Given the description of an element on the screen output the (x, y) to click on. 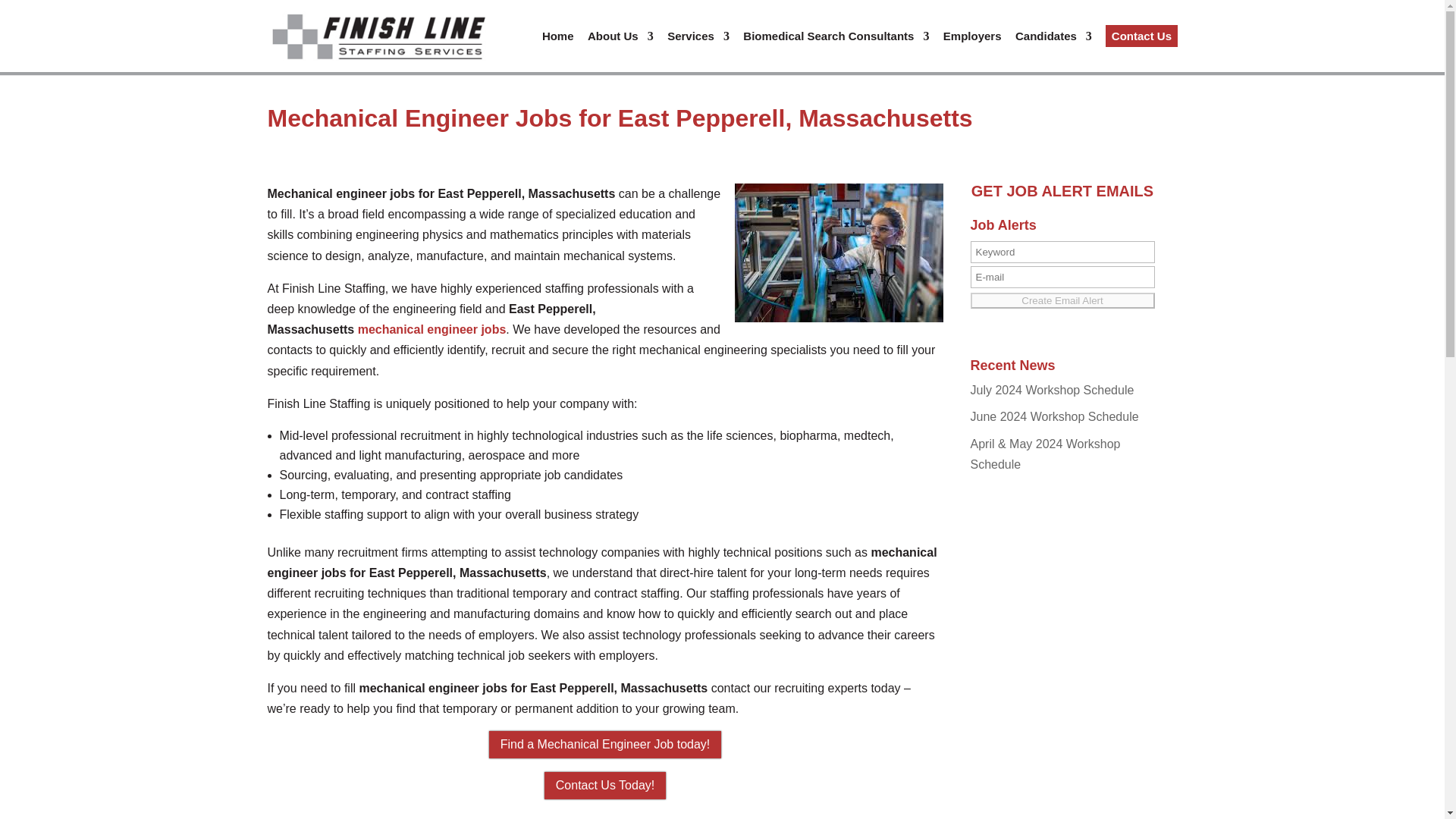
Create Email Alert (1062, 300)
Candidates (1053, 48)
Contact Us (1140, 35)
Biomedical Search Consultants (835, 48)
Create Email Alert (1062, 300)
Services (697, 48)
July 2024 Workshop Schedule (1052, 390)
Find a Mechanical Engineer Job today! (605, 744)
Home (557, 48)
Employers (972, 48)
Contact Us Today! (604, 785)
June 2024 Workshop Schedule (1054, 416)
About Us (620, 48)
mechanical engineer jobs (432, 328)
